Given the description of an element on the screen output the (x, y) to click on. 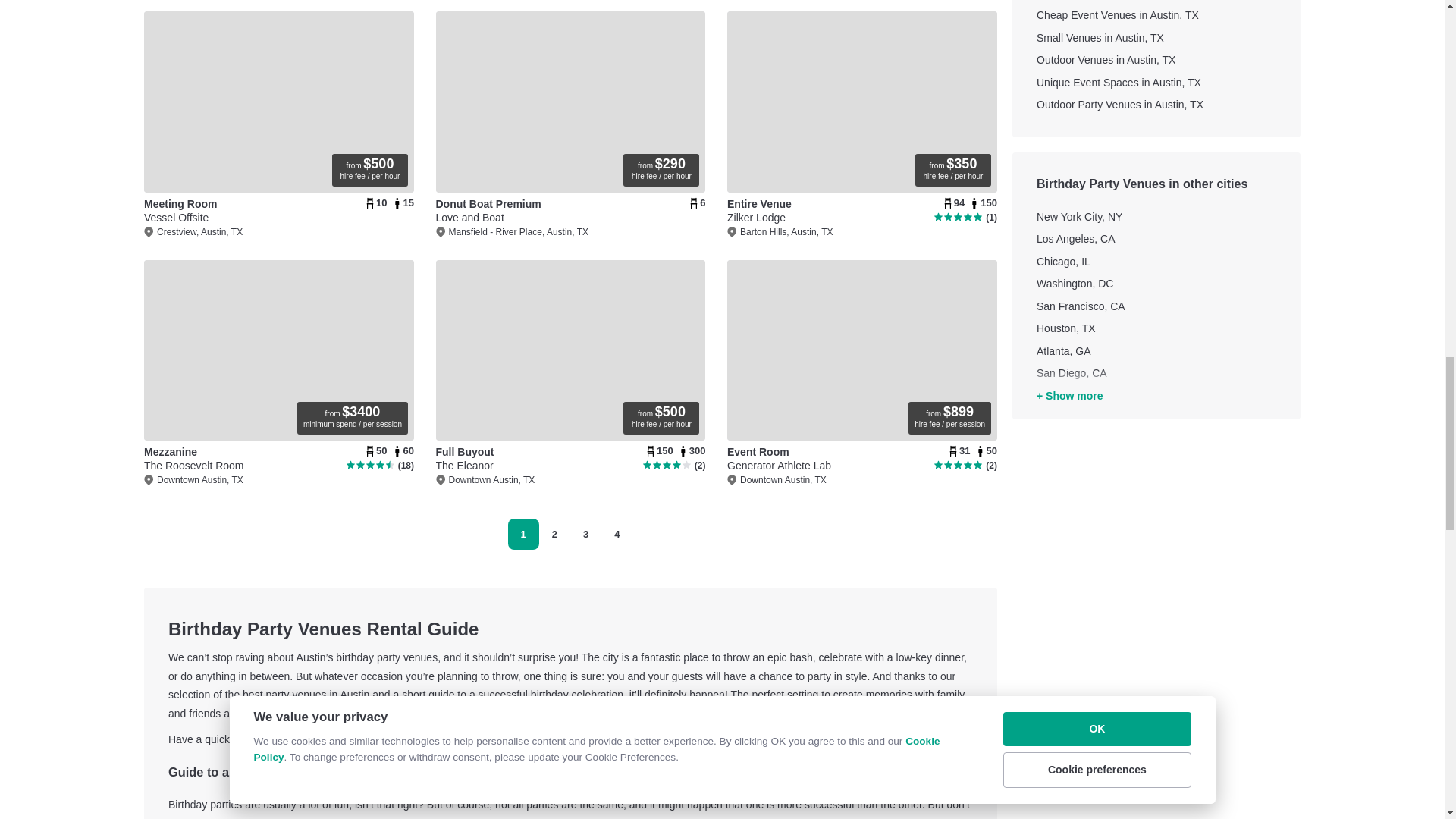
Unique Event Spaces in Austin, TX (1156, 83)
Small Venues in Austin, TX (1156, 38)
Outdoor Venues in Austin, TX (278, 217)
Large Event Venues in Austin, TX (1156, 60)
Cheap Event Venues in Austin, TX (1156, 1)
